Given the description of an element on the screen output the (x, y) to click on. 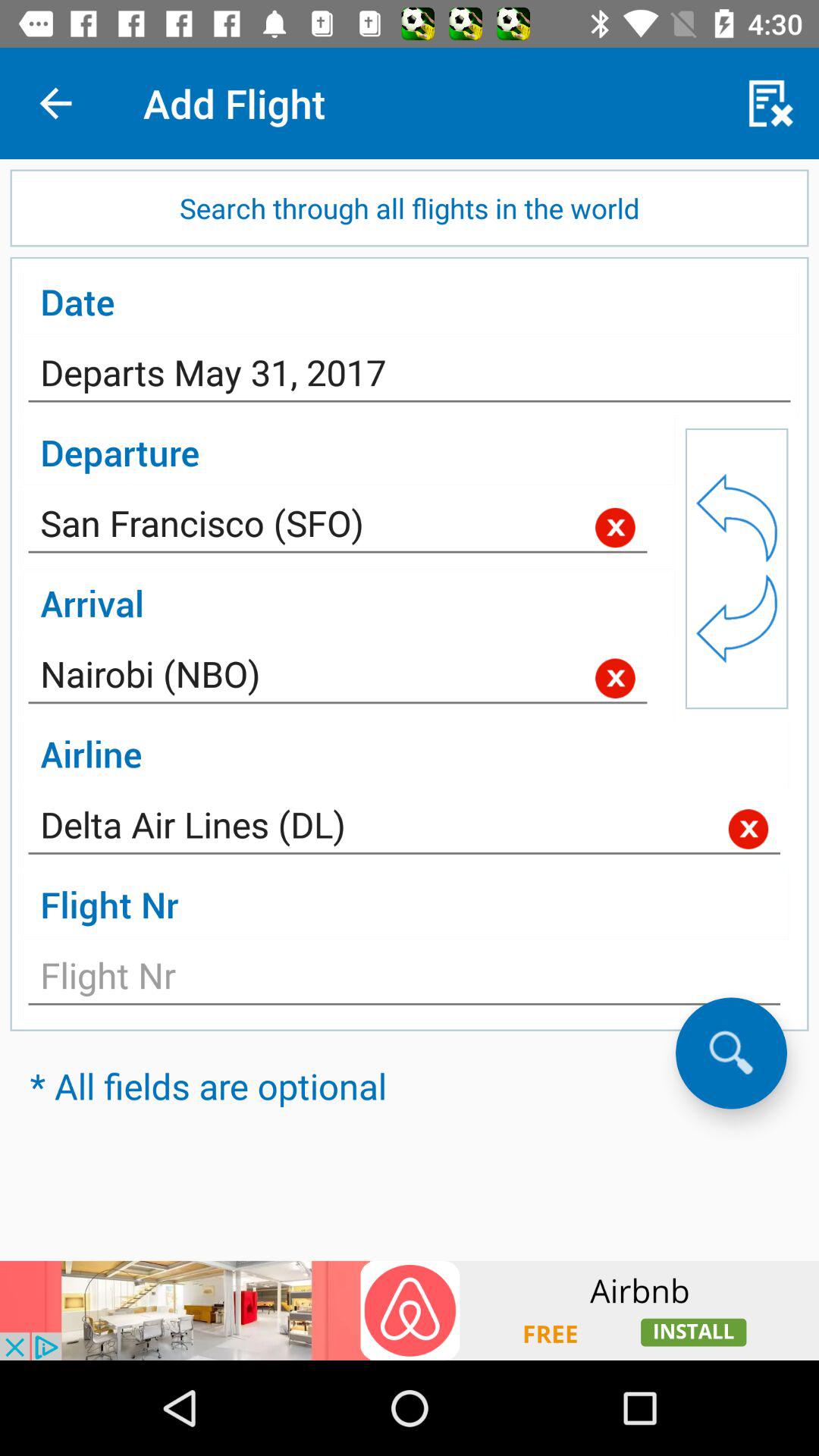
search button (731, 1053)
